Given the description of an element on the screen output the (x, y) to click on. 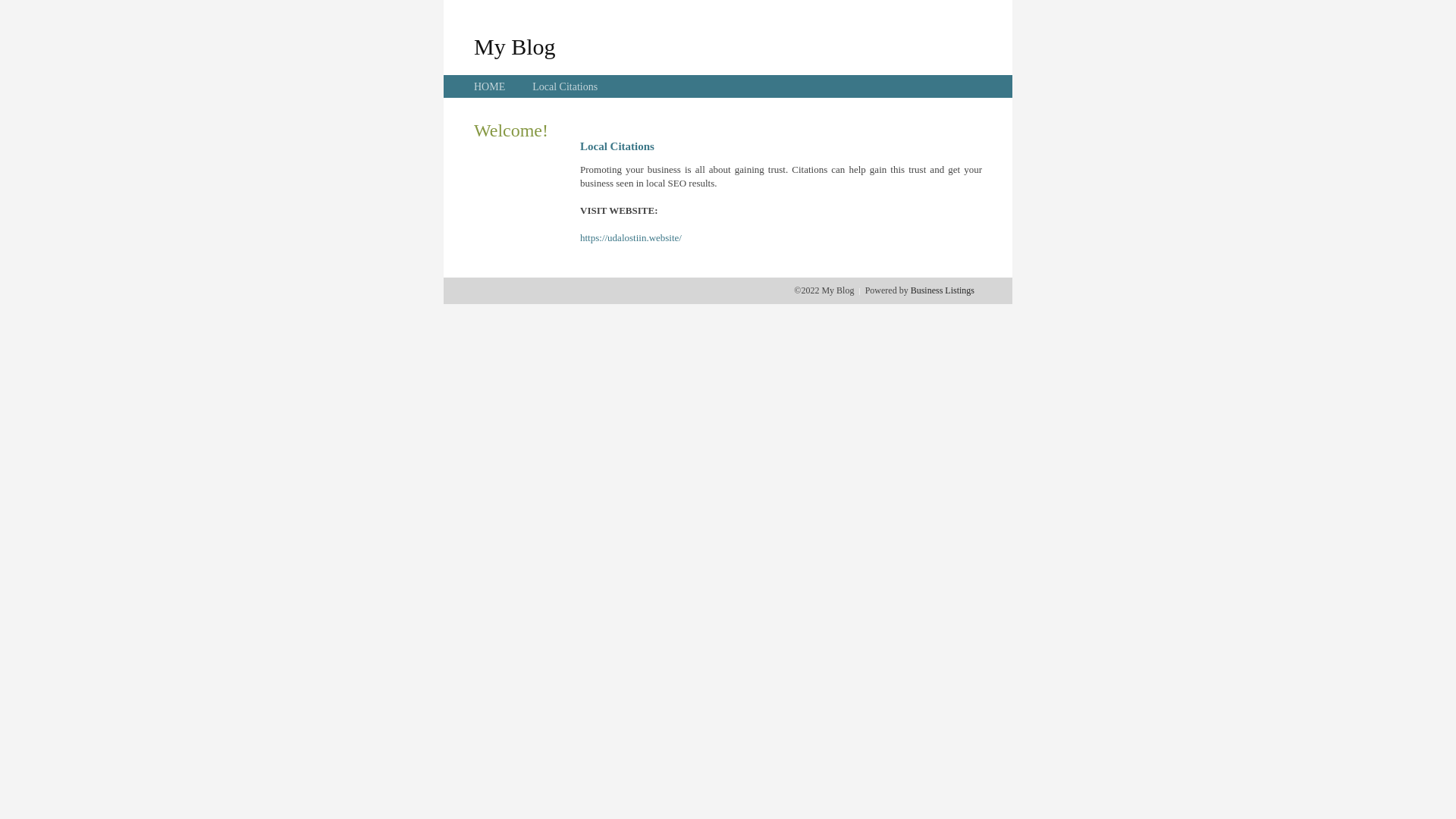
HOME Element type: text (489, 86)
My Blog Element type: text (514, 46)
https://udalostiin.website/ Element type: text (630, 237)
Business Listings Element type: text (942, 290)
Local Citations Element type: text (564, 86)
